Given the description of an element on the screen output the (x, y) to click on. 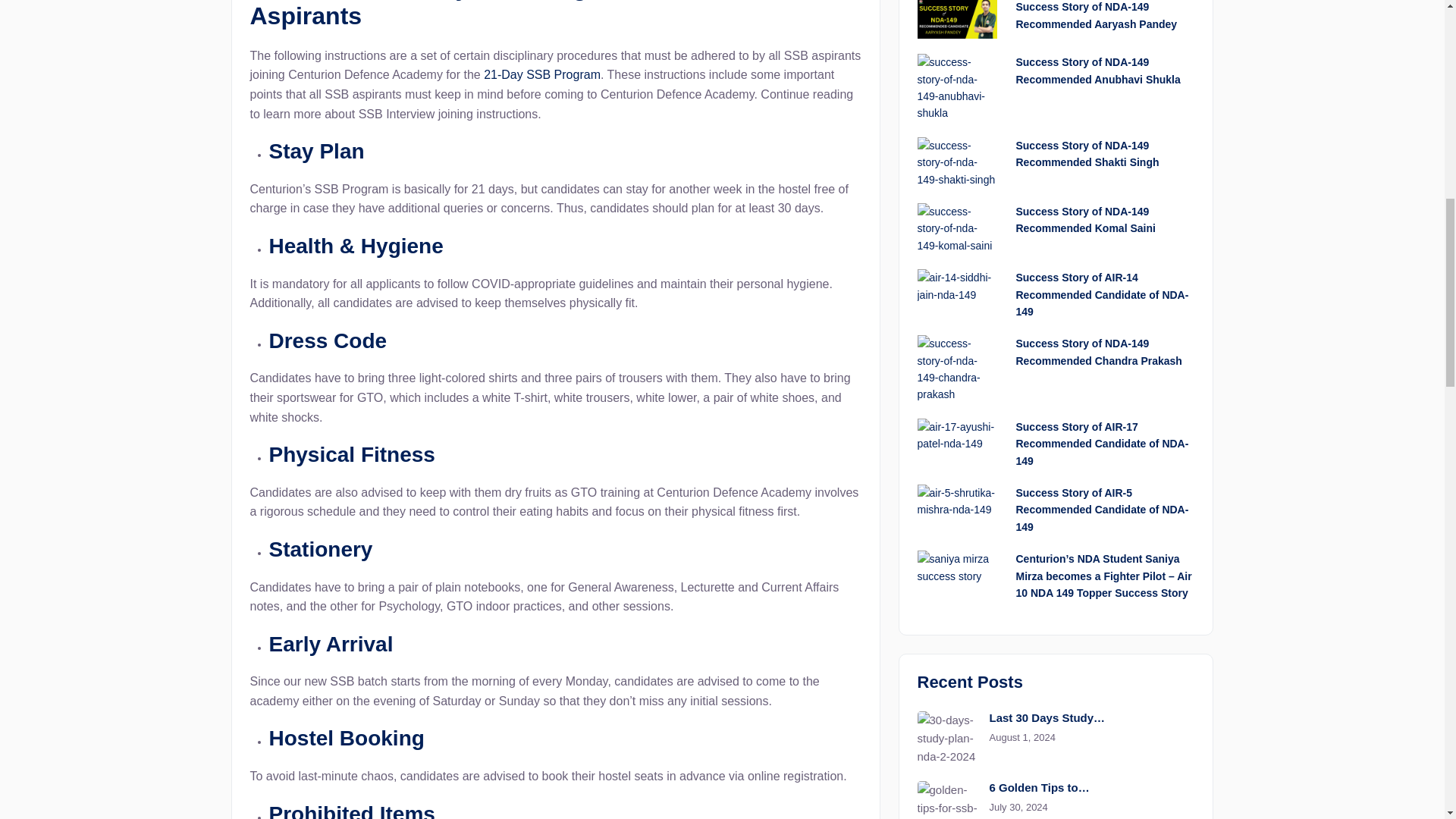
21-Day SSB Program (541, 74)
